Given the description of an element on the screen output the (x, y) to click on. 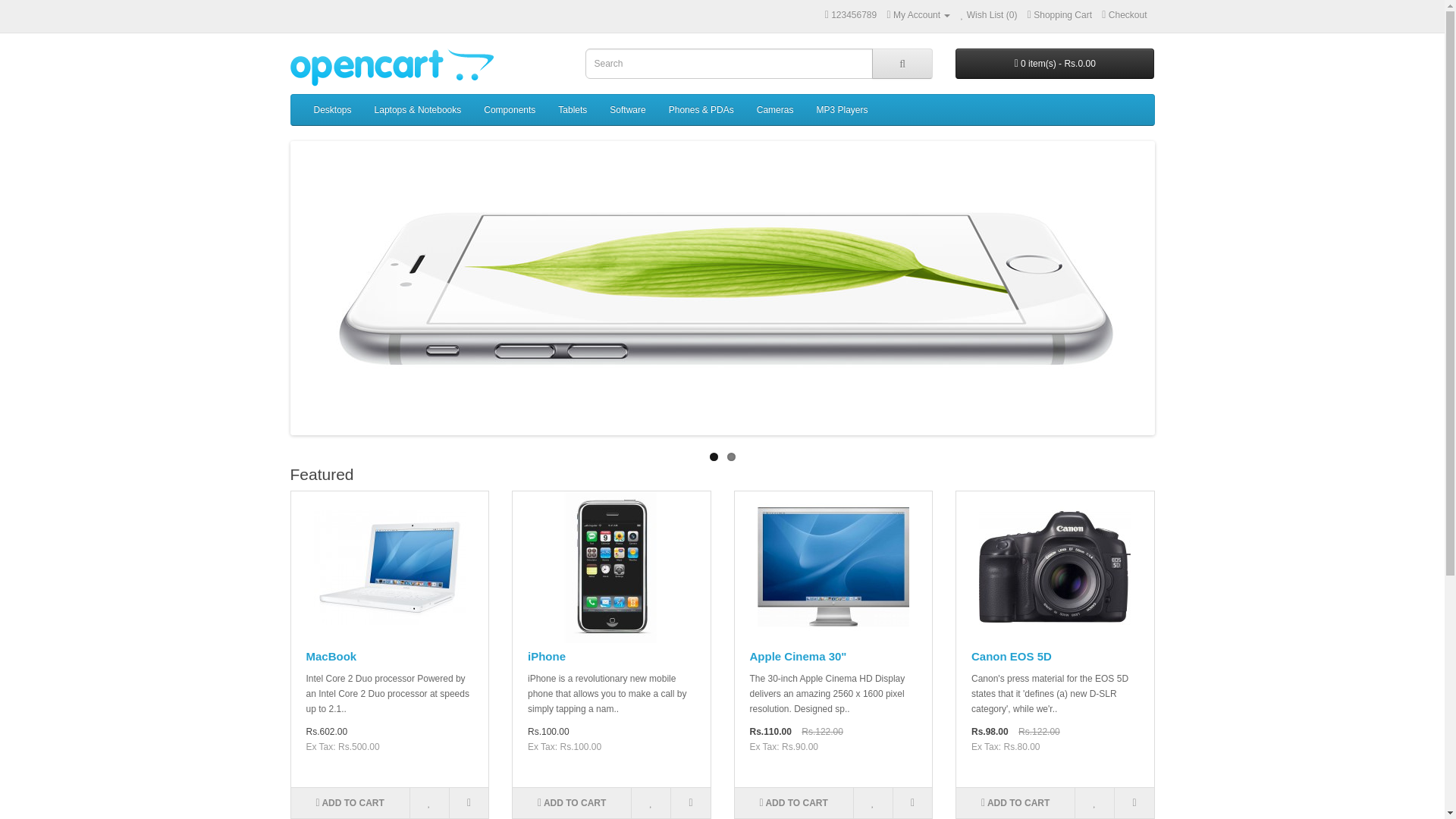
Software (627, 110)
Apple Cinema 30" (832, 566)
My Account (918, 14)
MP3 Players (842, 110)
Components (509, 110)
My Account (918, 14)
Shopping Cart (1059, 14)
Desktops (331, 110)
Checkout (1124, 14)
iPhone (611, 566)
Cameras (775, 110)
Shopping Cart (1059, 14)
Checkout (1124, 14)
Tablets (572, 110)
Canon EOS 5D (1054, 566)
